Given the description of an element on the screen output the (x, y) to click on. 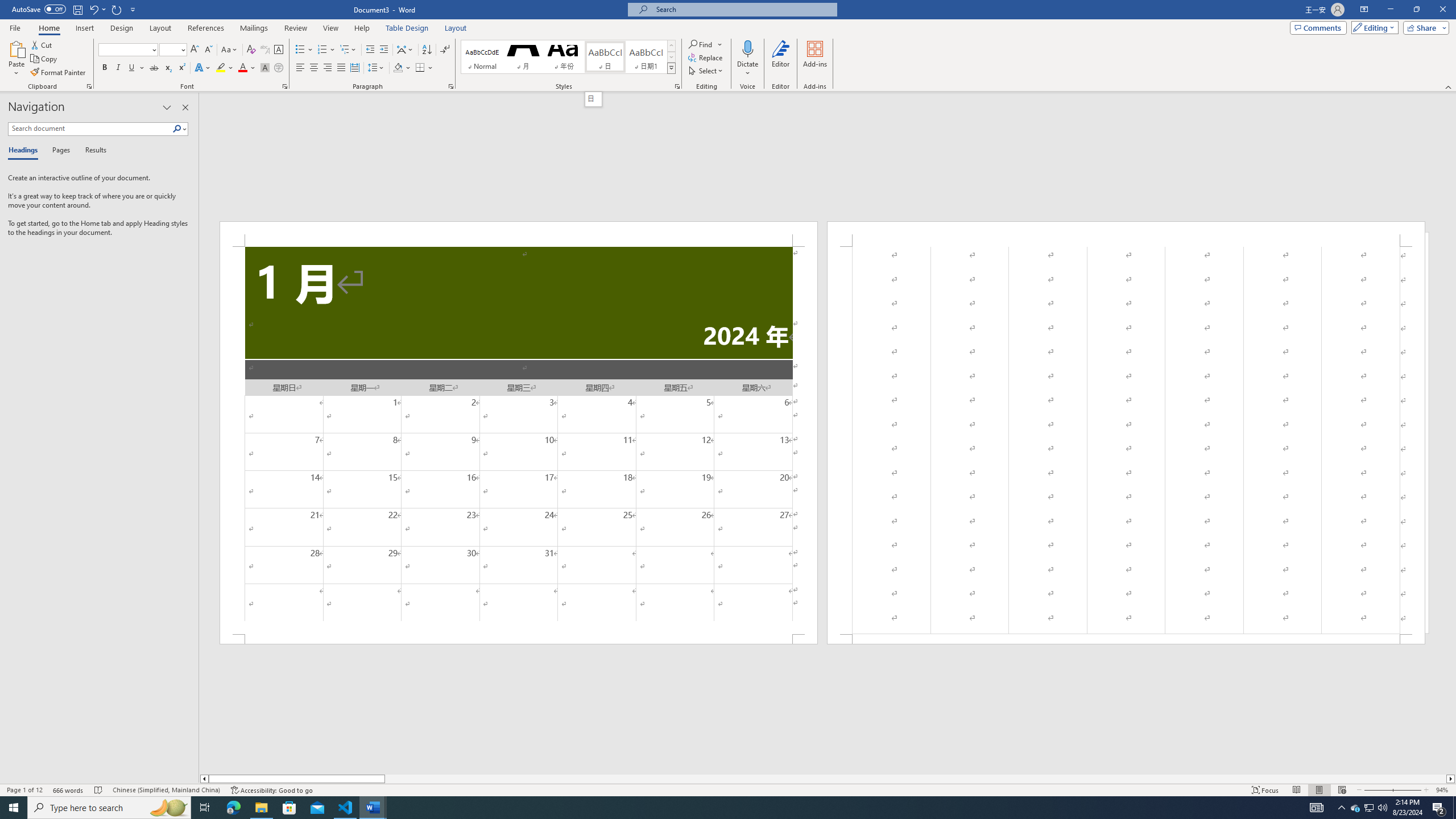
Multilevel List (347, 49)
Web Layout (1342, 790)
Quick Access Toolbar (74, 9)
Sort... (426, 49)
Italic (118, 67)
Page 2 content (1126, 439)
Subscript (167, 67)
Comments (1318, 27)
Search (179, 128)
Mode (1372, 27)
Ribbon Display Options (1364, 9)
Insert (83, 28)
Justify (340, 67)
